Given the description of an element on the screen output the (x, y) to click on. 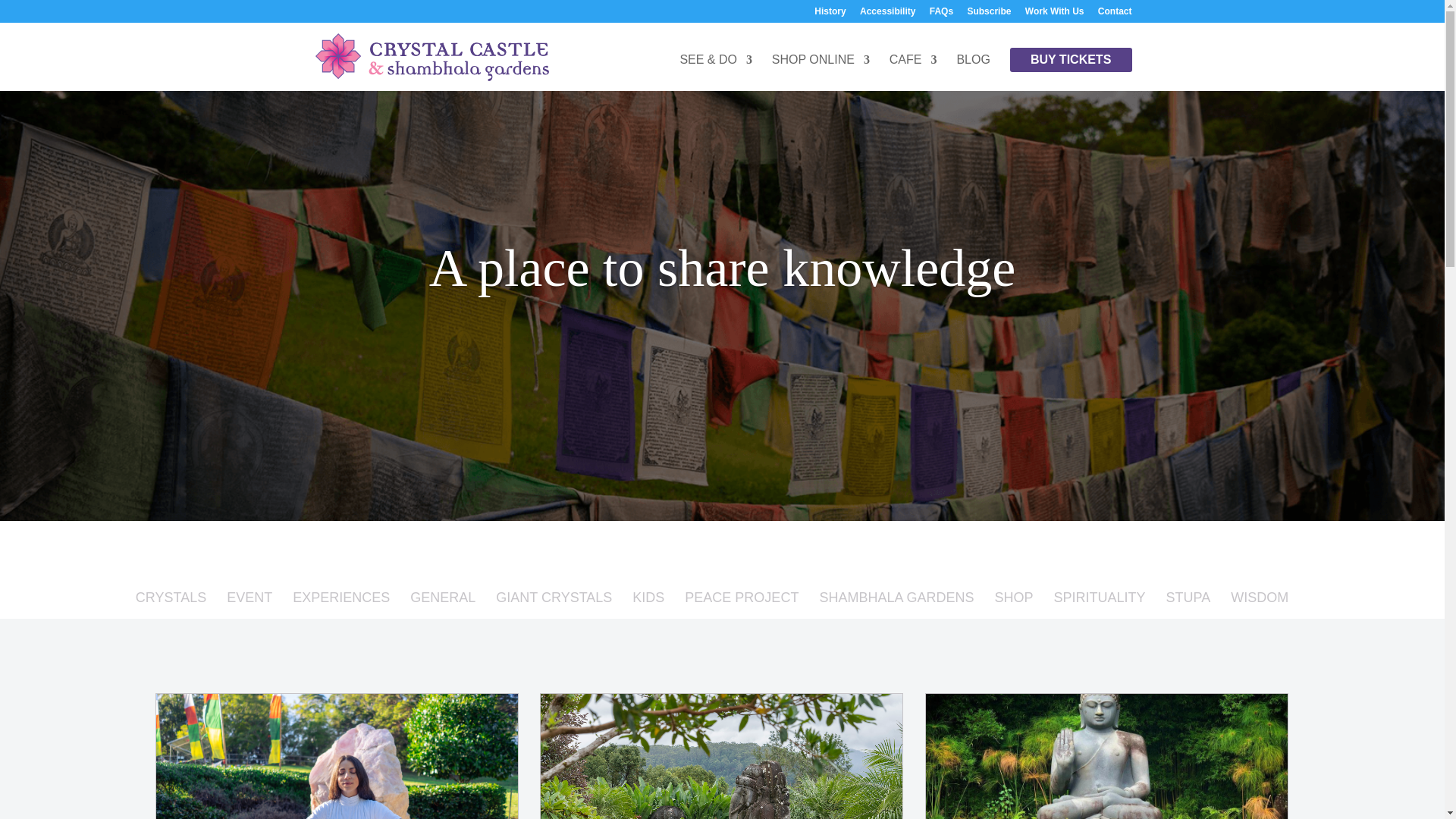
FAQs (941, 14)
Accessibility (887, 14)
Contact (1114, 14)
Subscribe (988, 14)
Work With Us (1054, 14)
History (829, 14)
